Given the description of an element on the screen output the (x, y) to click on. 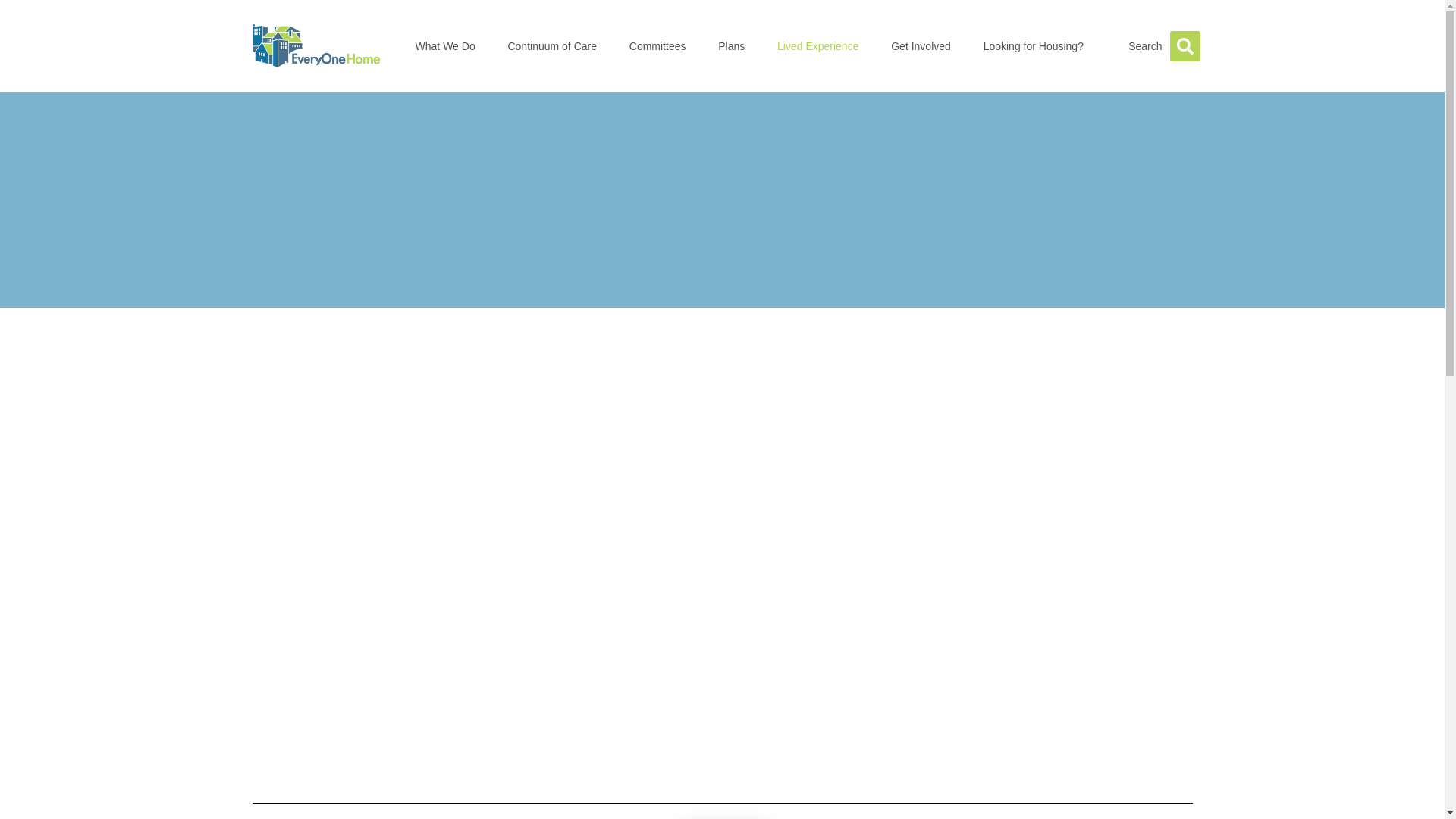
Lived Experience (817, 46)
Committees (656, 46)
Continuum of Care (552, 46)
What We Do (445, 46)
Looking for Housing? (1033, 46)
Plans (730, 46)
Get Involved (919, 46)
